Given the description of an element on the screen output the (x, y) to click on. 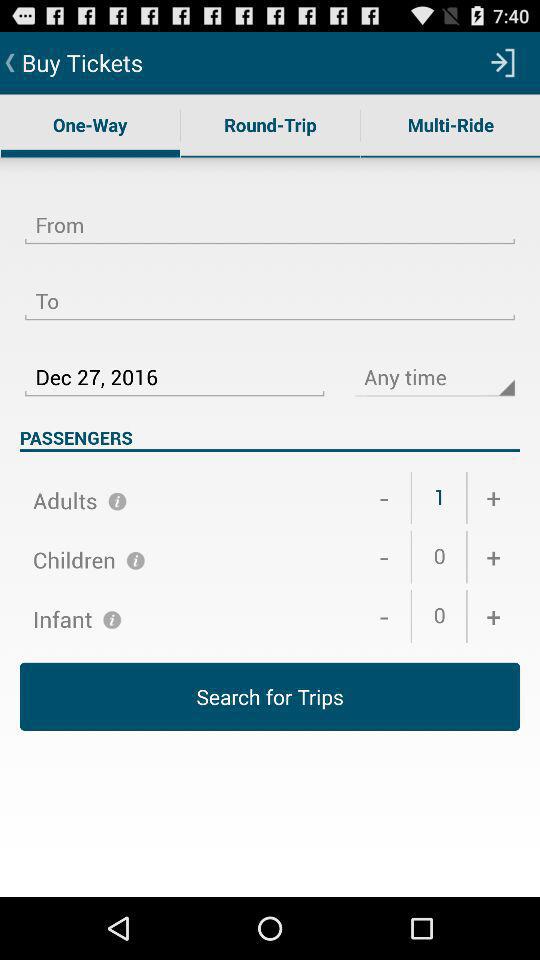
enter the destination (269, 289)
